Given the description of an element on the screen output the (x, y) to click on. 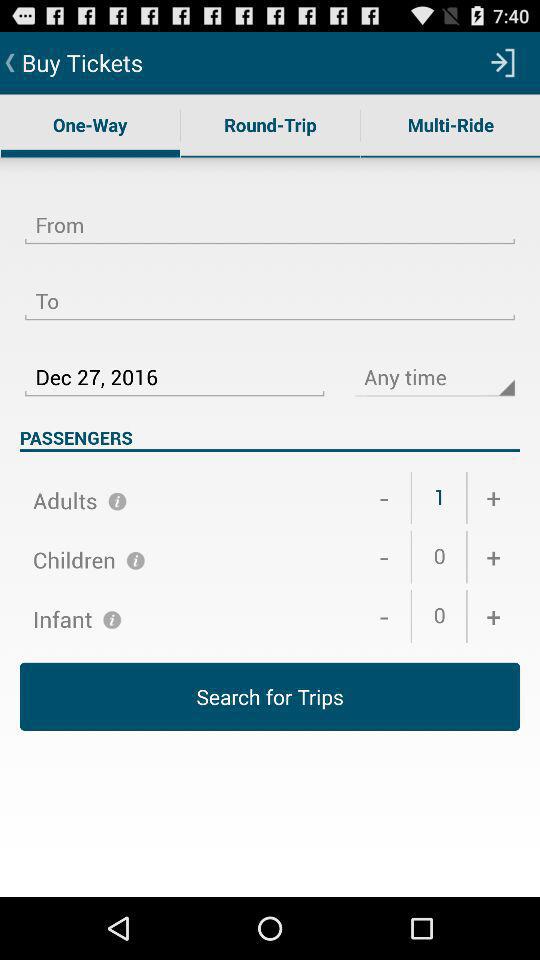
enter the destination (269, 289)
